Given the description of an element on the screen output the (x, y) to click on. 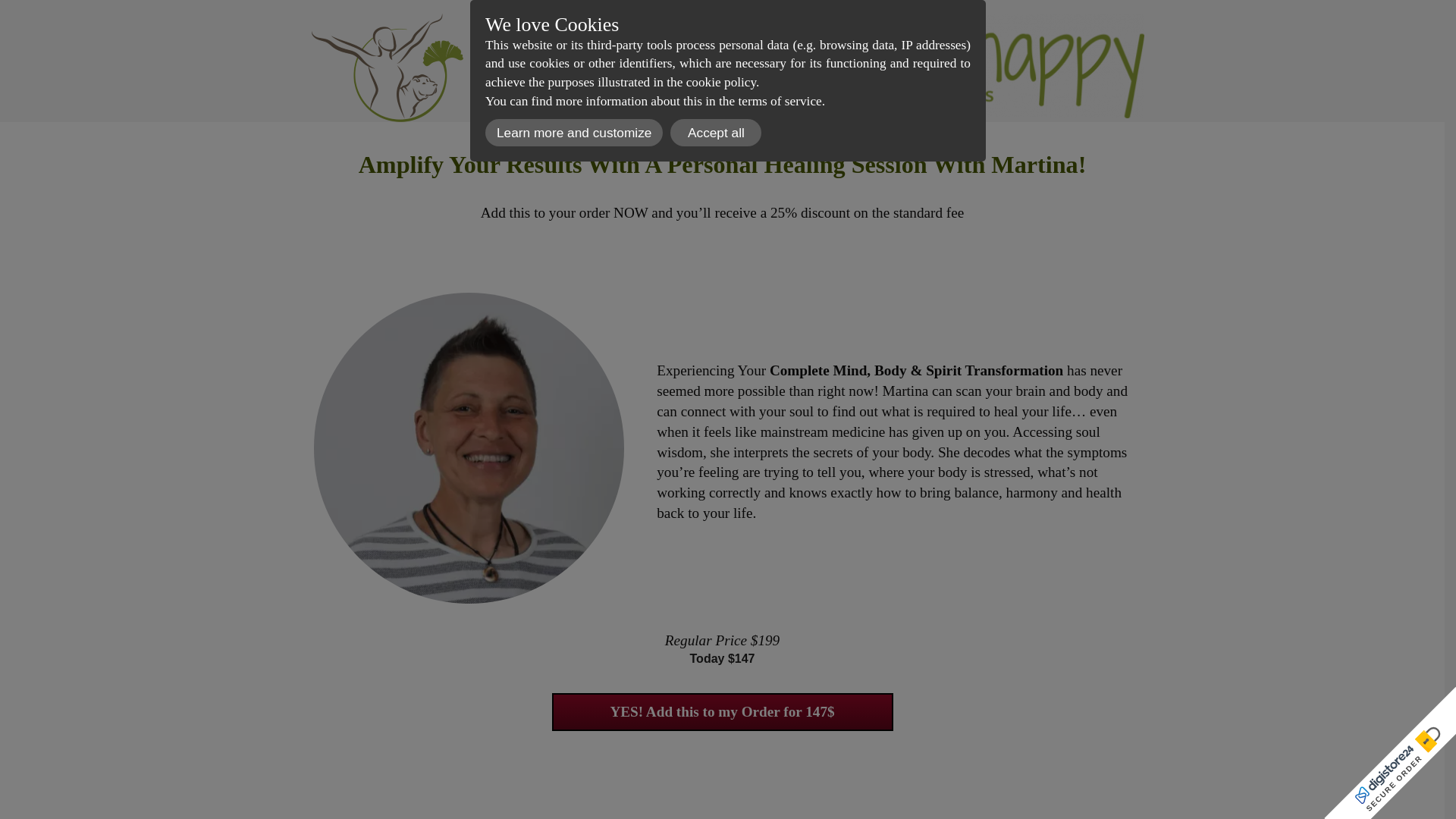
Learn more and customize (573, 132)
Accept all (715, 132)
